Given the description of an element on the screen output the (x, y) to click on. 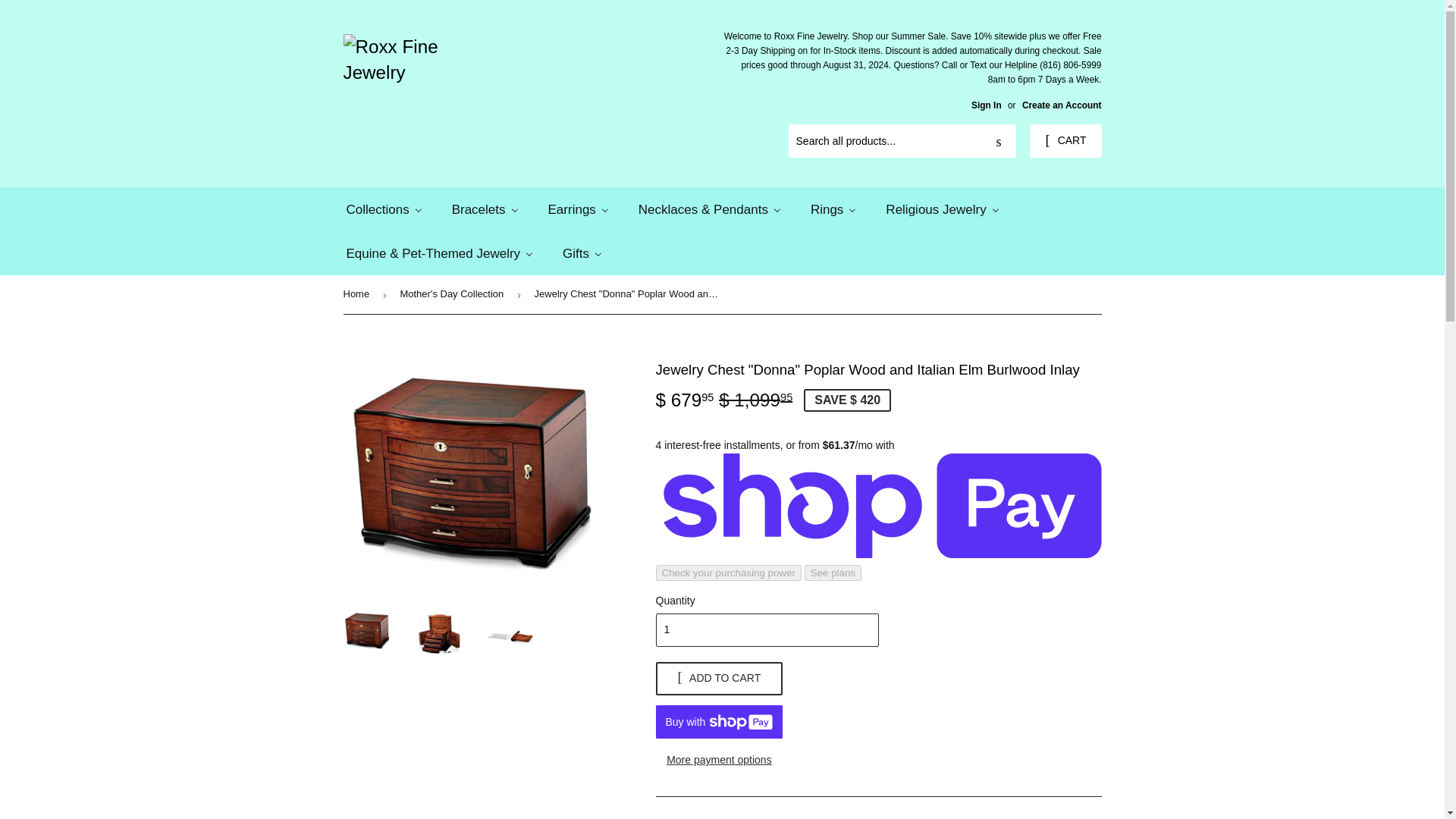
Create an Account (1062, 104)
CART (1064, 141)
1 (766, 630)
Sign In (986, 104)
Search (998, 142)
